Given the description of an element on the screen output the (x, y) to click on. 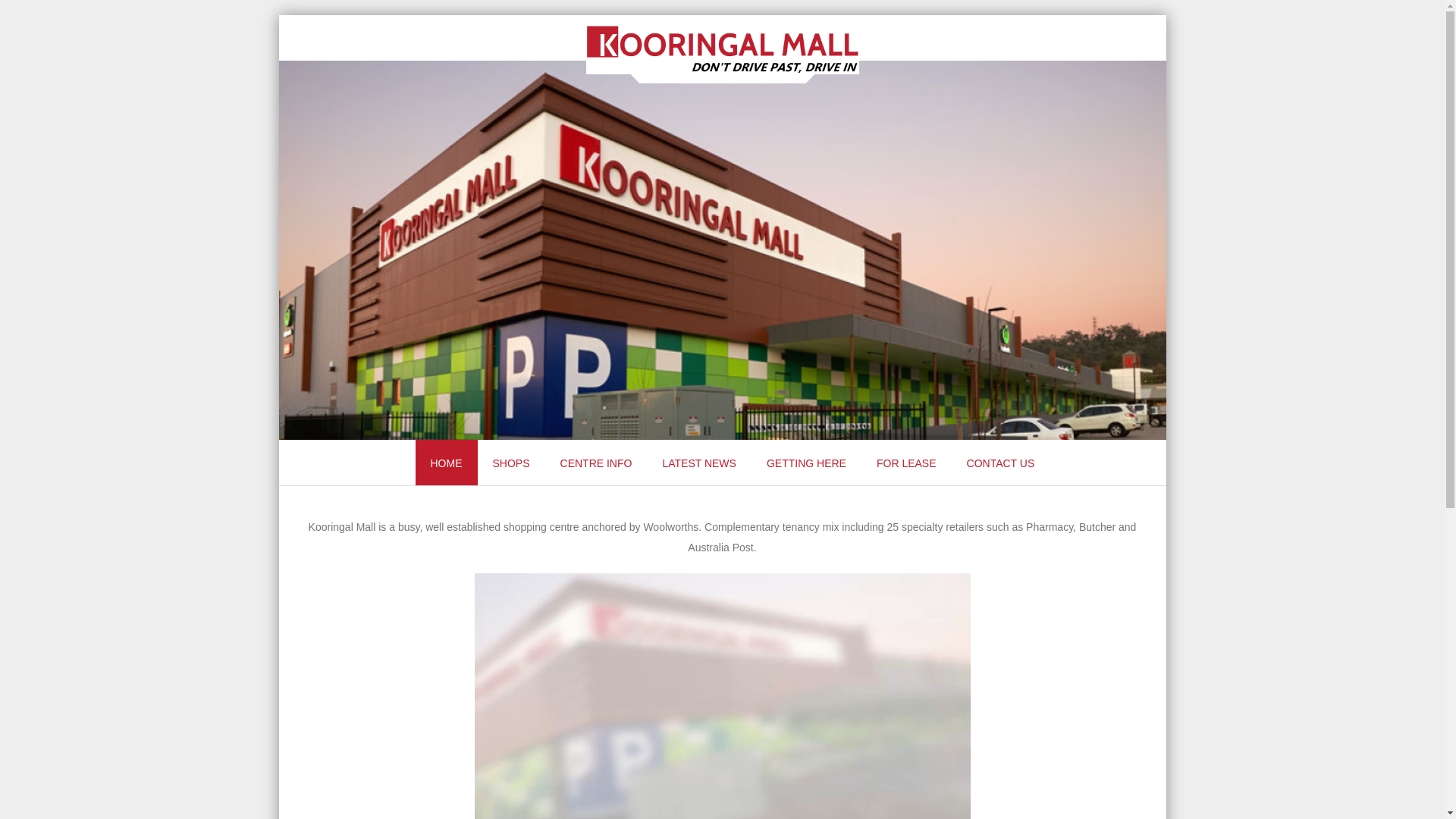
HOME Element type: text (446, 462)
Search Element type: text (26, 14)
LATEST NEWS Element type: text (698, 462)
Menu Element type: text (305, 472)
GETTING HERE Element type: text (806, 462)
Kooringal Mall Element type: hover (721, 70)
Skip to content Element type: text (314, 449)
FOR LEASE Element type: text (906, 462)
SHOPS Element type: text (511, 462)
CONTACT US Element type: text (1000, 462)
CENTRE INFO Element type: text (596, 462)
